Given the description of an element on the screen output the (x, y) to click on. 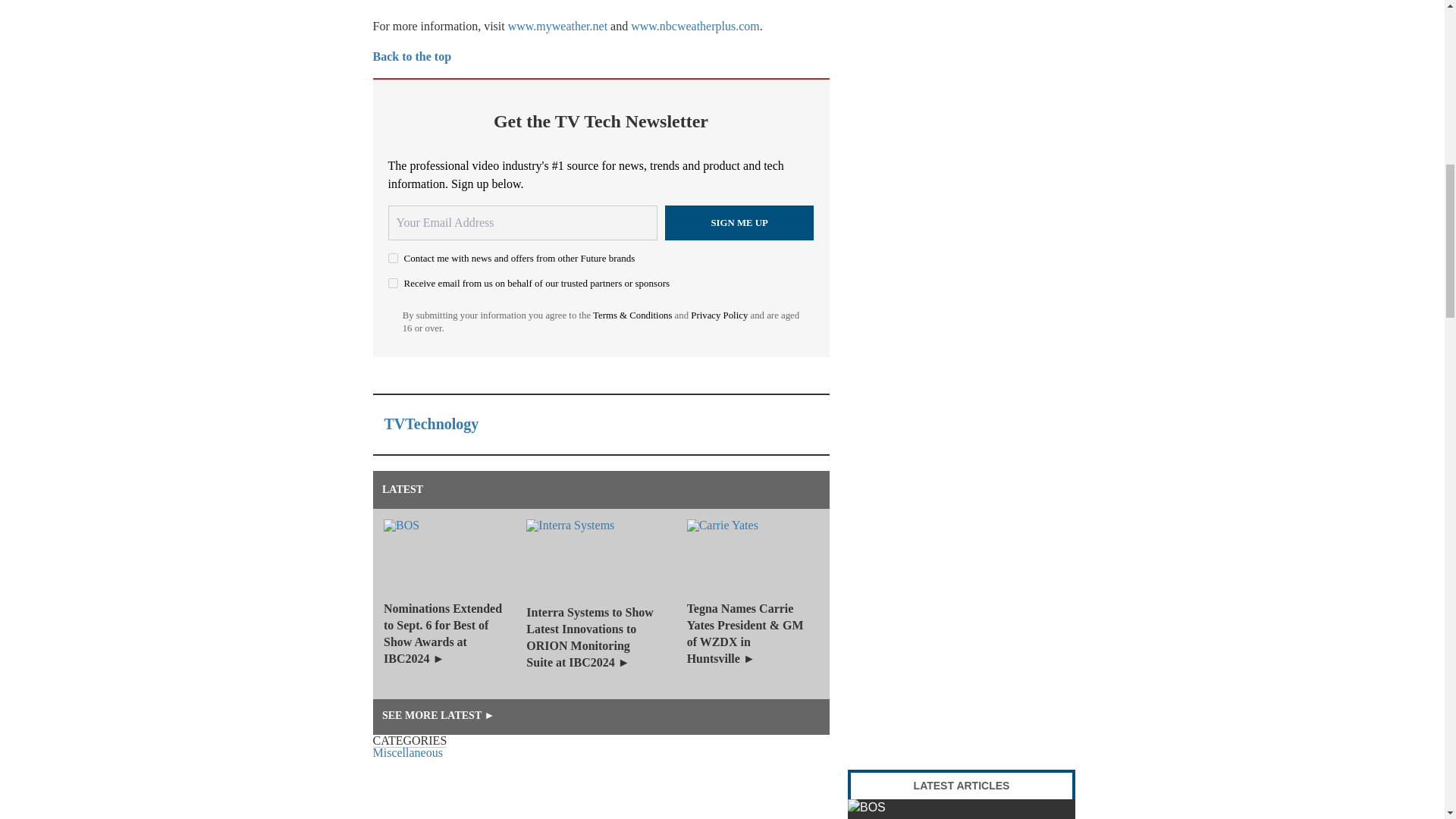
www.myweather.net (557, 25)
Back to the top (411, 56)
TVTechnology (431, 423)
Sign me up (739, 222)
on (392, 283)
on (392, 257)
Miscellaneous (407, 752)
Sign me up (739, 222)
Privacy Policy (719, 315)
